Given the description of an element on the screen output the (x, y) to click on. 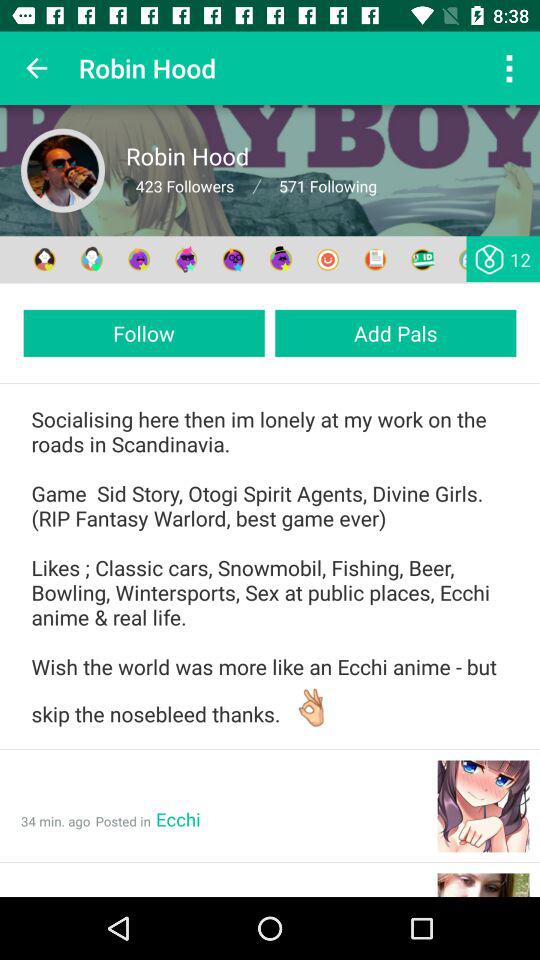
launch the item on the right (395, 332)
